Given the description of an element on the screen output the (x, y) to click on. 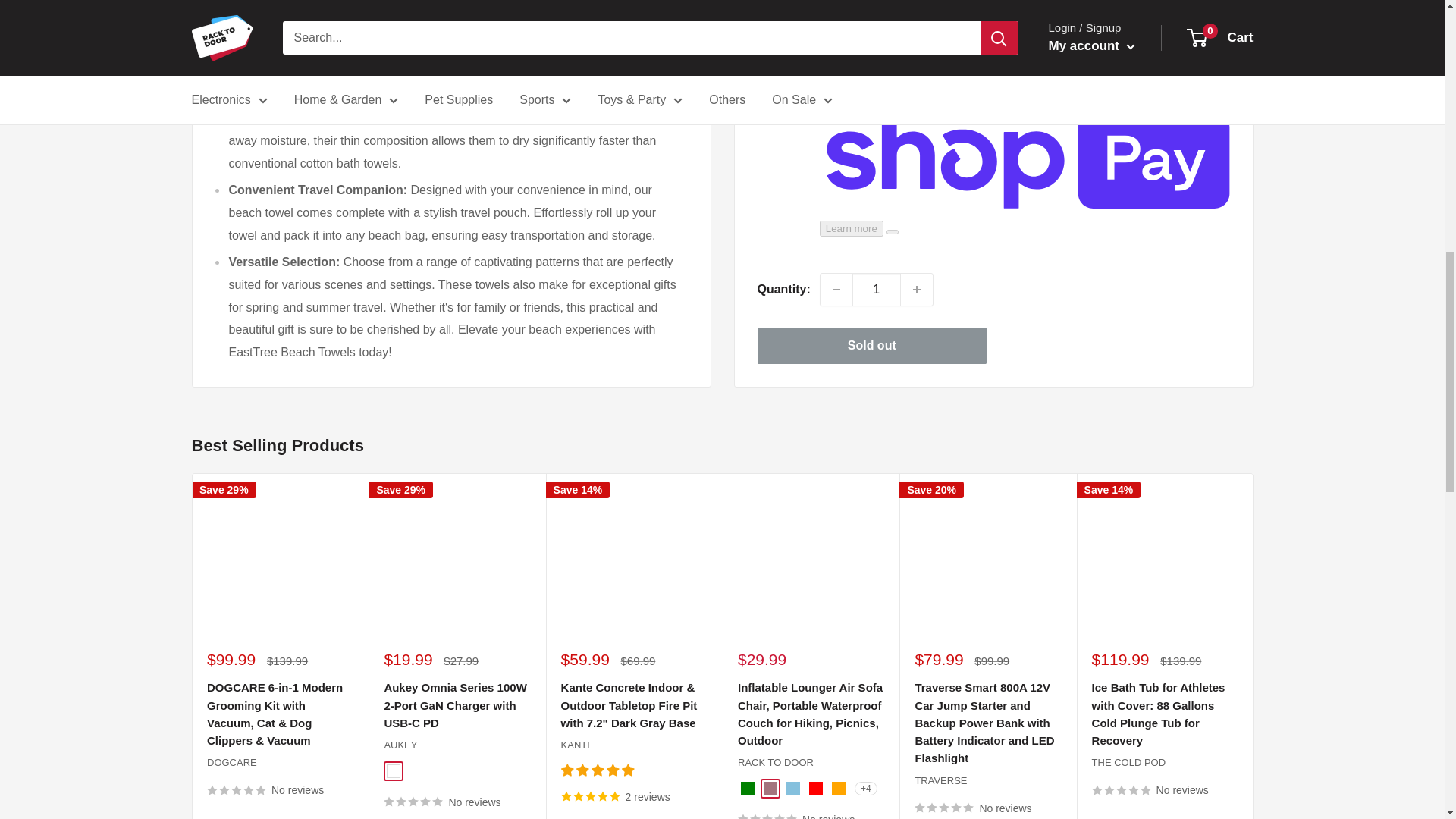
Red (815, 789)
Decrease quantity by 1 (836, 36)
Light Blue (792, 789)
White (393, 771)
Green (746, 789)
1 (876, 36)
Dark Pink (769, 789)
Increase quantity by 1 (917, 36)
Orange (837, 789)
